Given the description of an element on the screen output the (x, y) to click on. 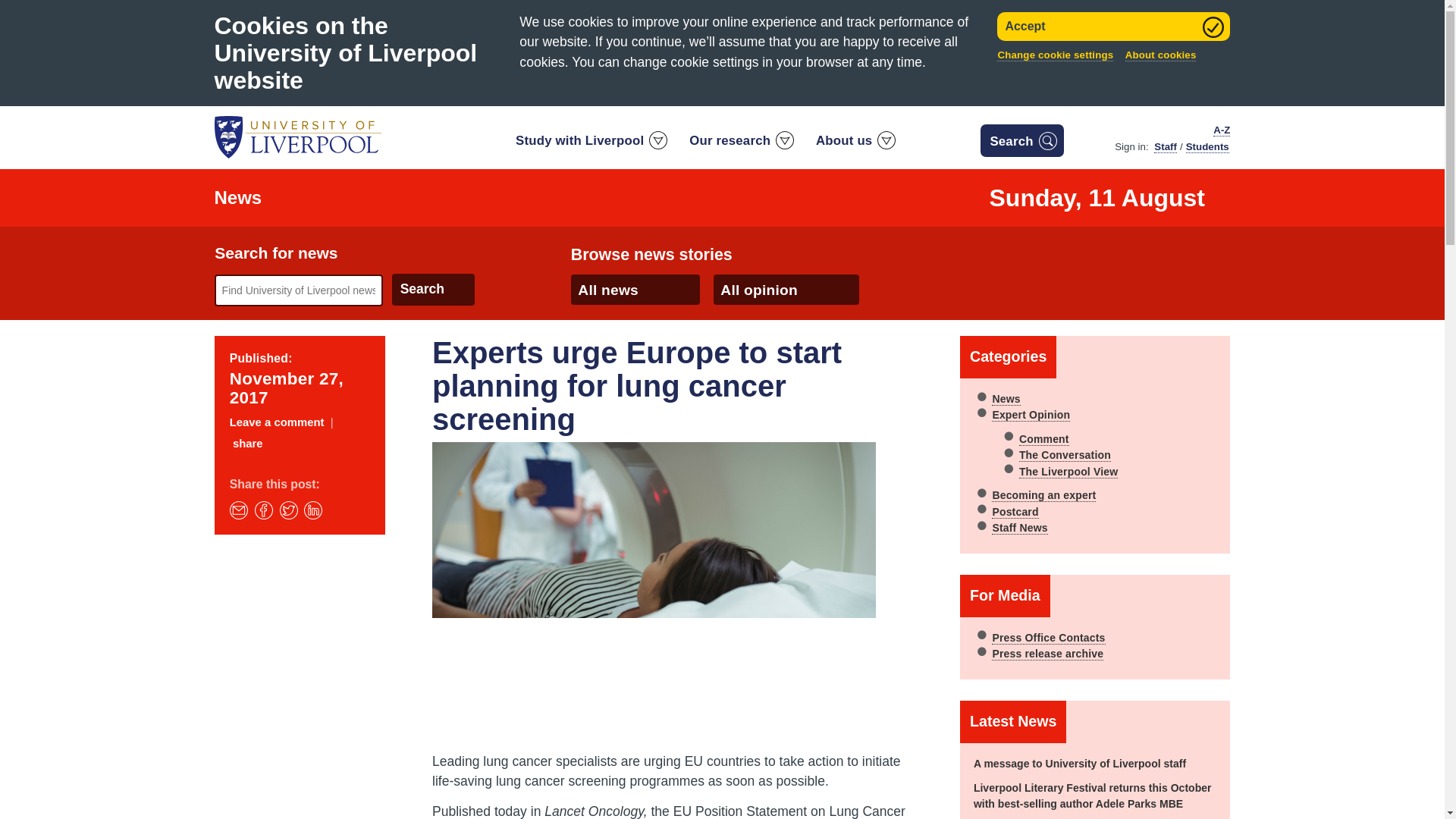
University of Liverpool Logo (297, 137)
Accept (1113, 26)
University of Liverpool Home (297, 136)
Search (432, 289)
A message to University of Liverpool staff (1080, 763)
